Given the description of an element on the screen output the (x, y) to click on. 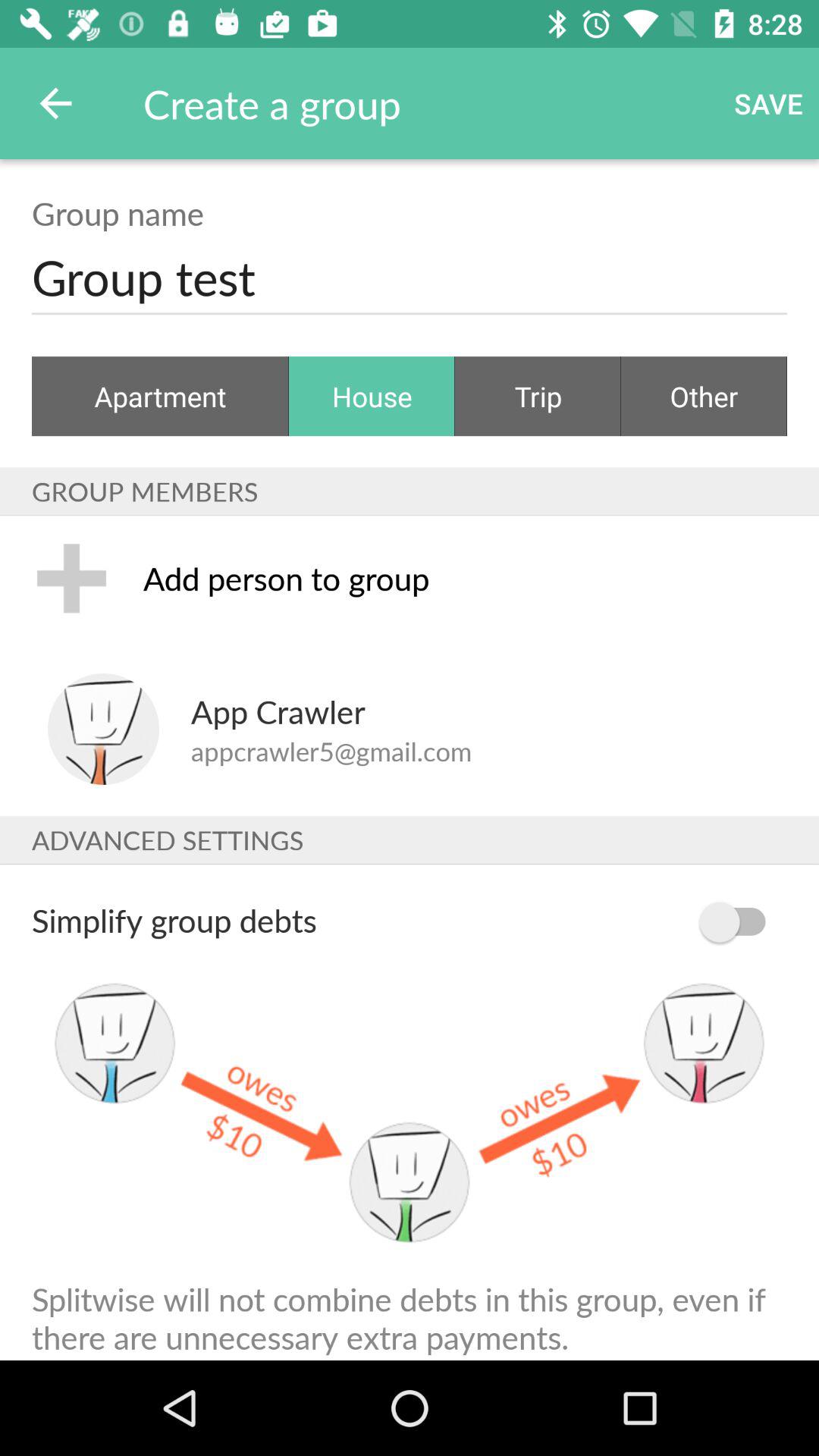
turn on icon on the right (739, 922)
